Given the description of an element on the screen output the (x, y) to click on. 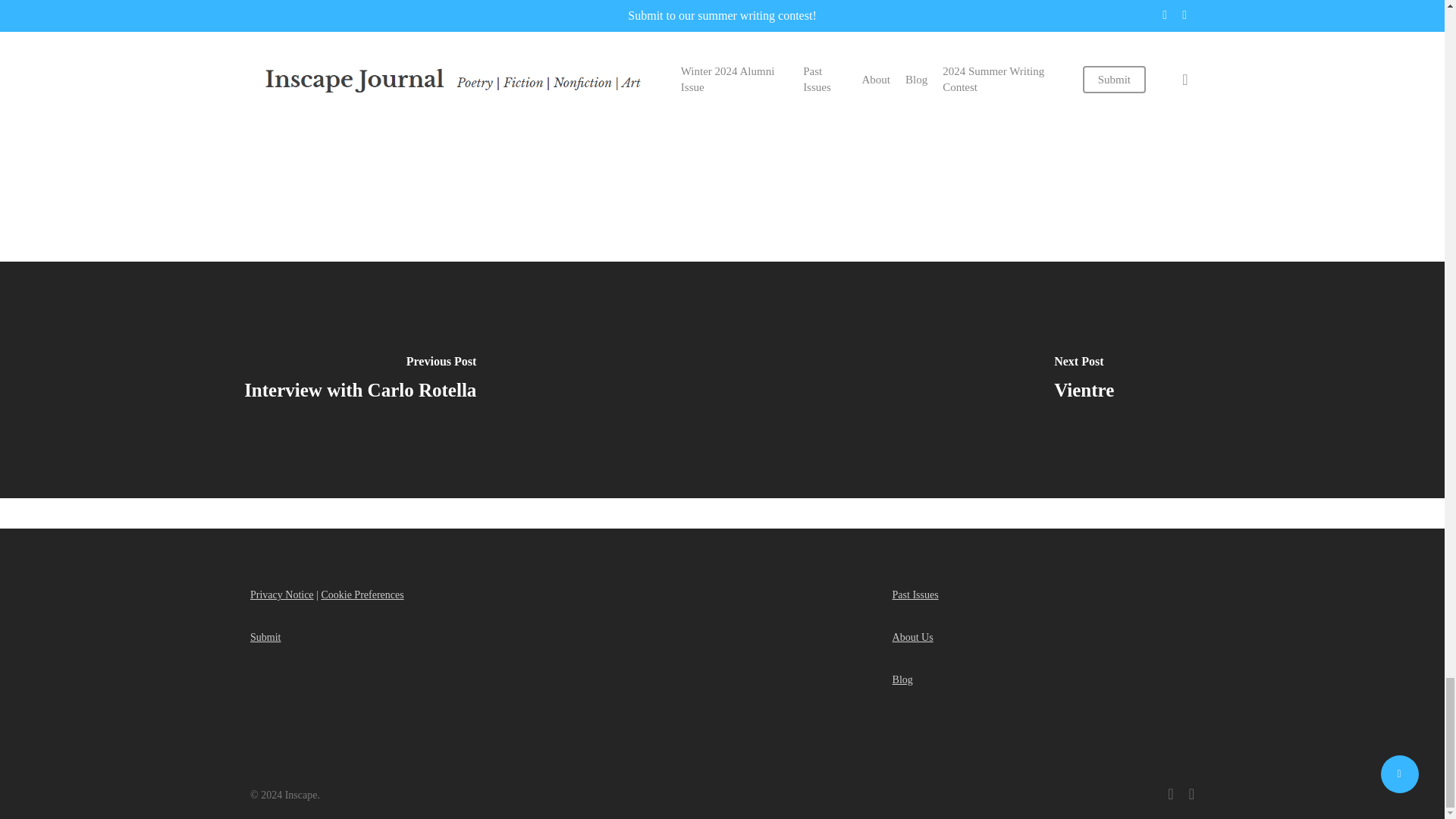
About Us (912, 636)
Submit (265, 636)
Blog (902, 679)
Past Issues (915, 594)
Cookie Preferences (361, 594)
Privacy Notice (282, 594)
